Given the description of an element on the screen output the (x, y) to click on. 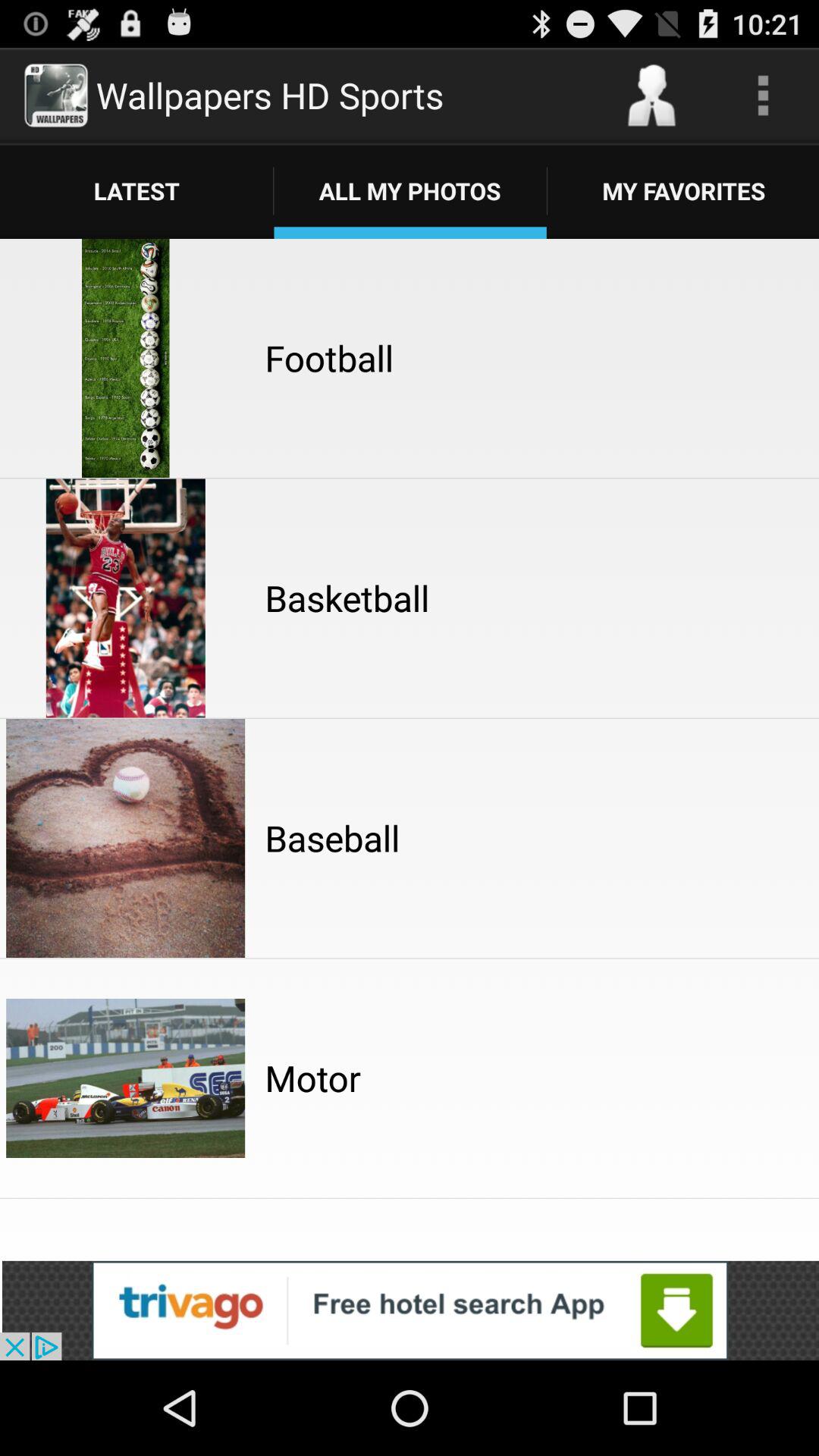
advertisement page (409, 1310)
